Given the description of an element on the screen output the (x, y) to click on. 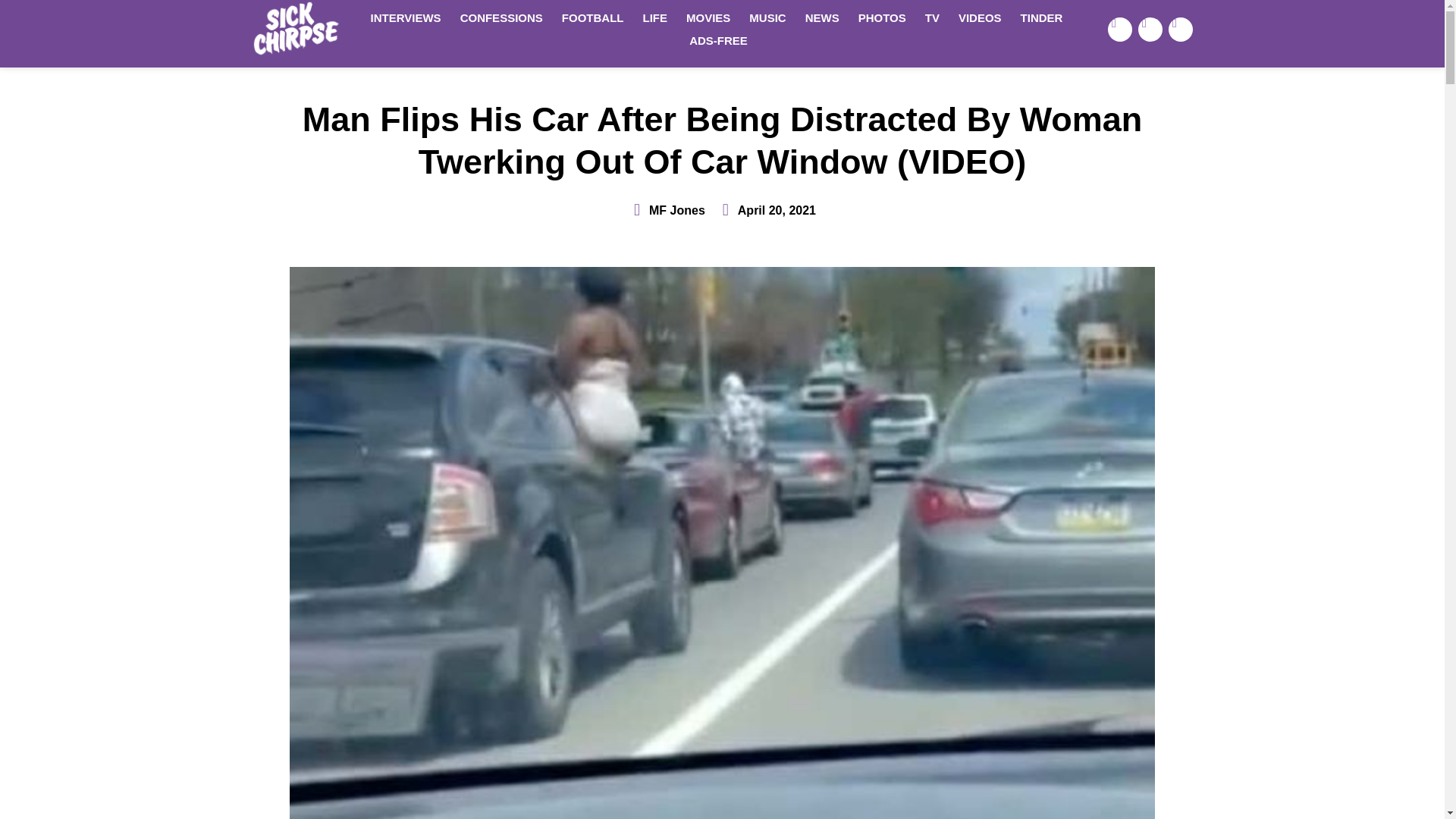
Instagram (1180, 29)
ADS-FREE (718, 40)
TINDER (1041, 17)
MUSIC (767, 17)
FOOTBALL (592, 17)
VIDEOS (979, 17)
LIFE (654, 17)
NEWS (822, 17)
Facebook (1120, 29)
Twitter (1149, 29)
